Given the description of an element on the screen output the (x, y) to click on. 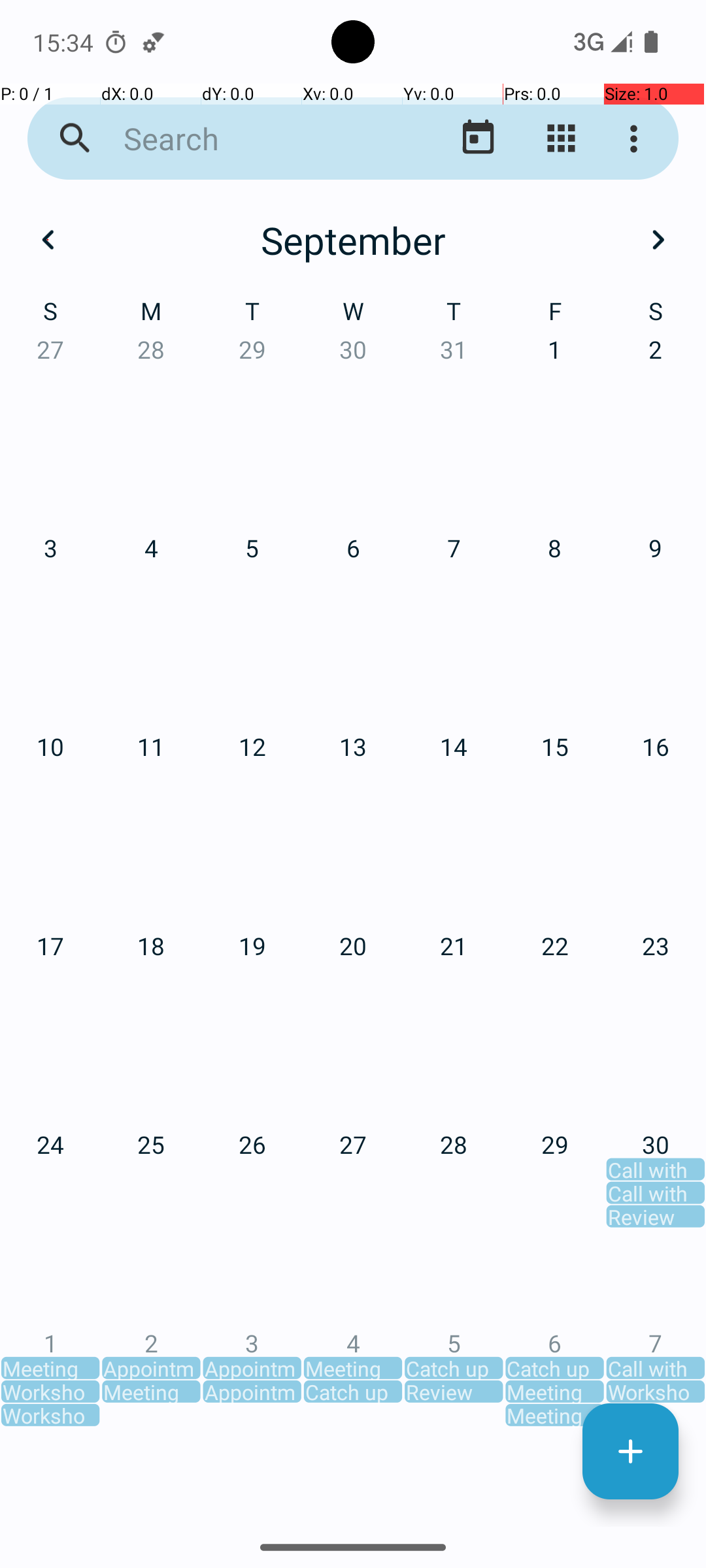
September Element type: android.widget.TextView (352, 239)
